Given the description of an element on the screen output the (x, y) to click on. 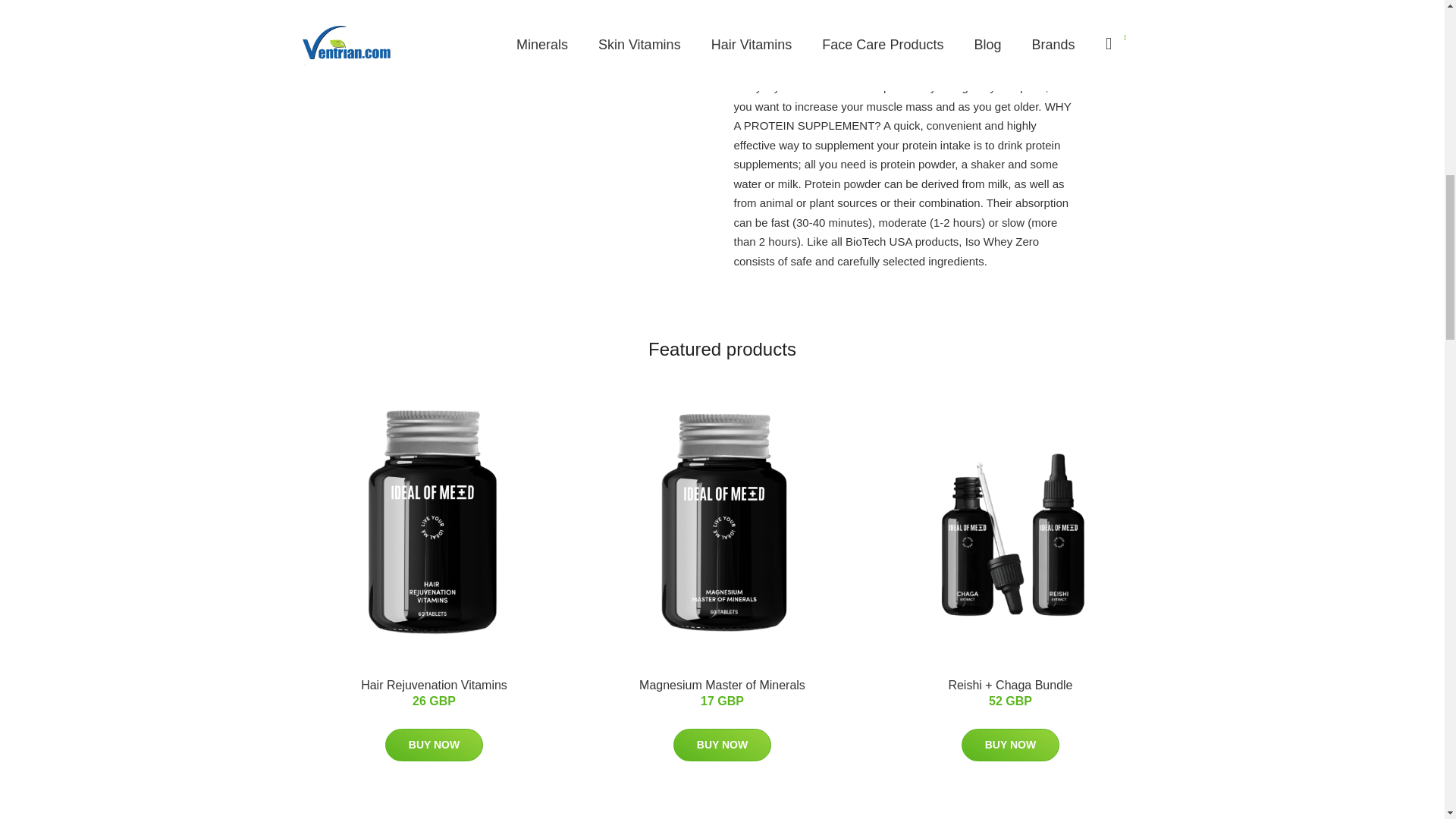
Magnesium Master of Minerals (722, 684)
BUY NOW (721, 744)
BUY NOW (434, 744)
BUY NOW (1009, 744)
Hair Rejuvenation Vitamins (433, 684)
